Given the description of an element on the screen output the (x, y) to click on. 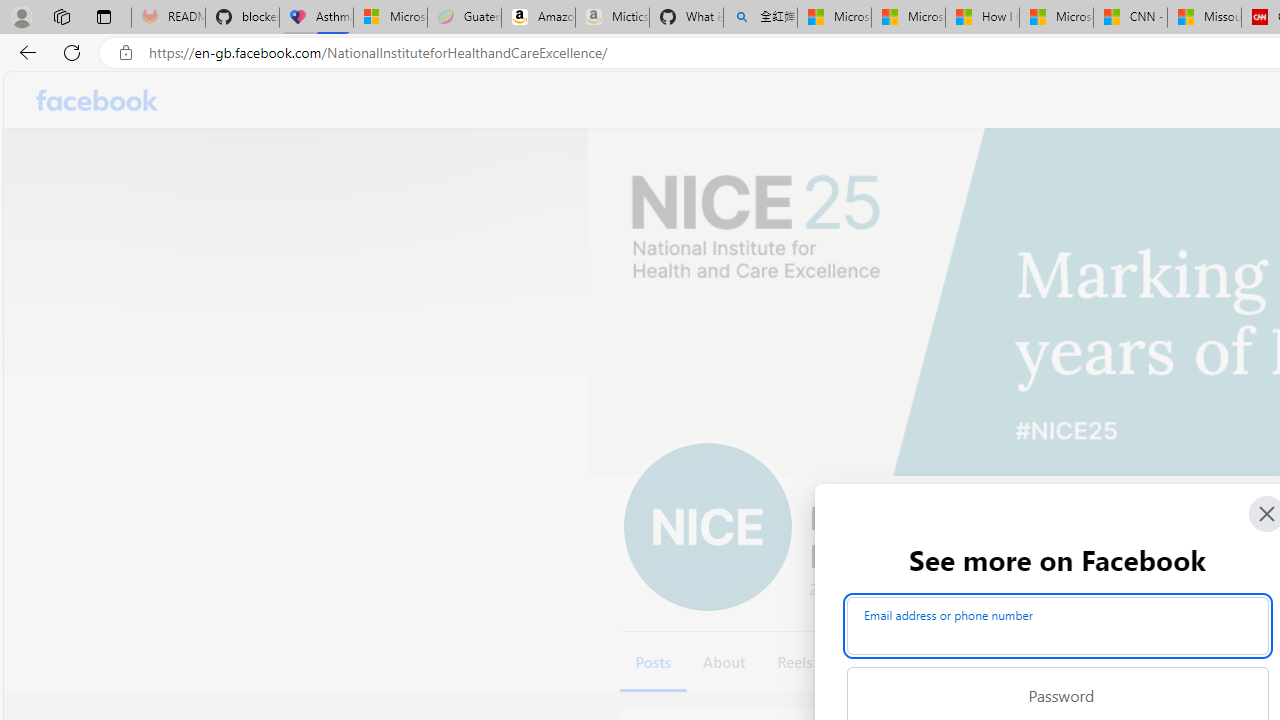
Facebook (97, 99)
Email address or phone number (1057, 625)
How I Got Rid of Microsoft Edge's Unnecessary Features (981, 17)
CNN - MSN (1130, 17)
Facebook (97, 99)
